Given the description of an element on the screen output the (x, y) to click on. 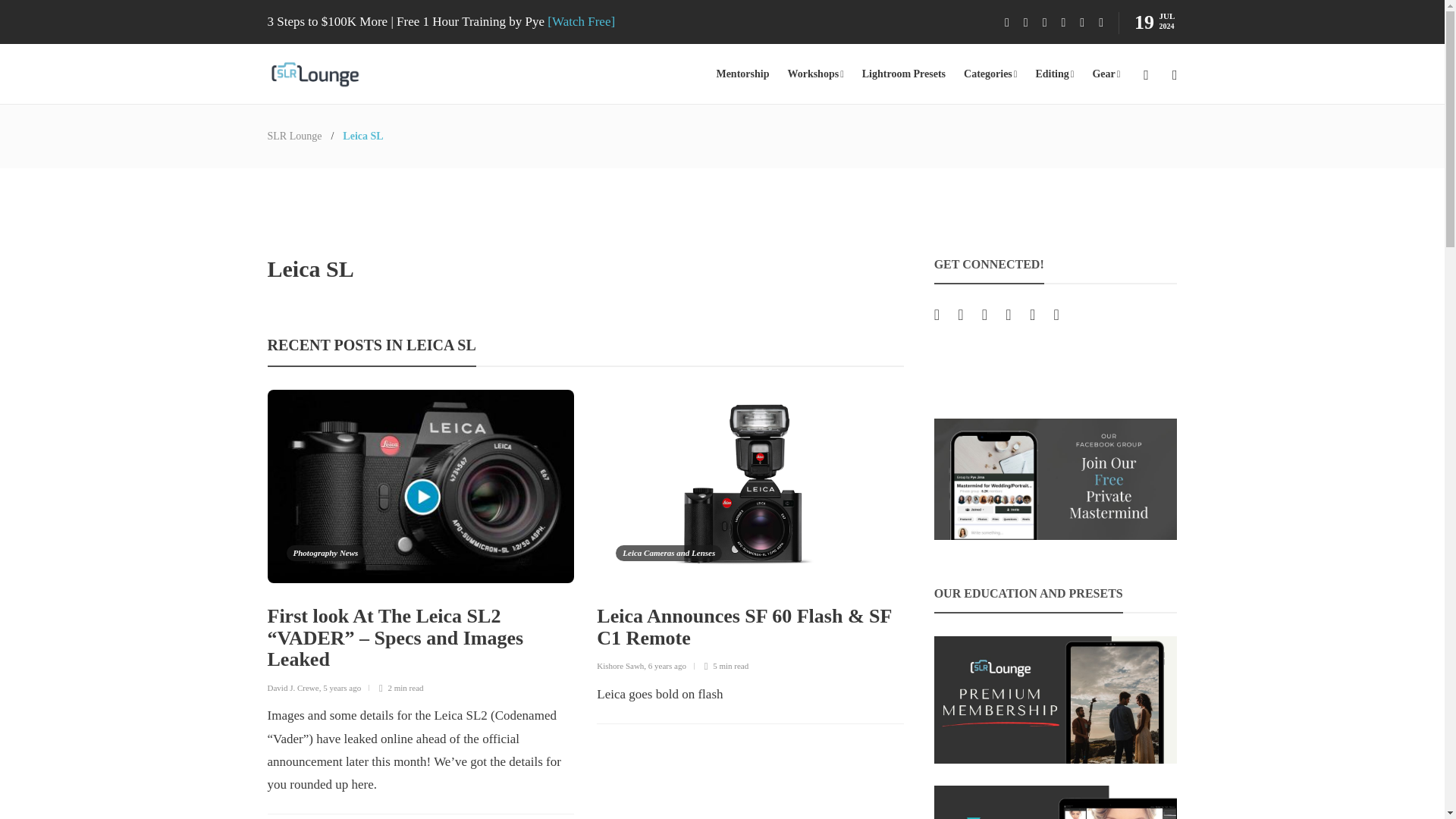
SLR Lounge (293, 135)
